Given the description of an element on the screen output the (x, y) to click on. 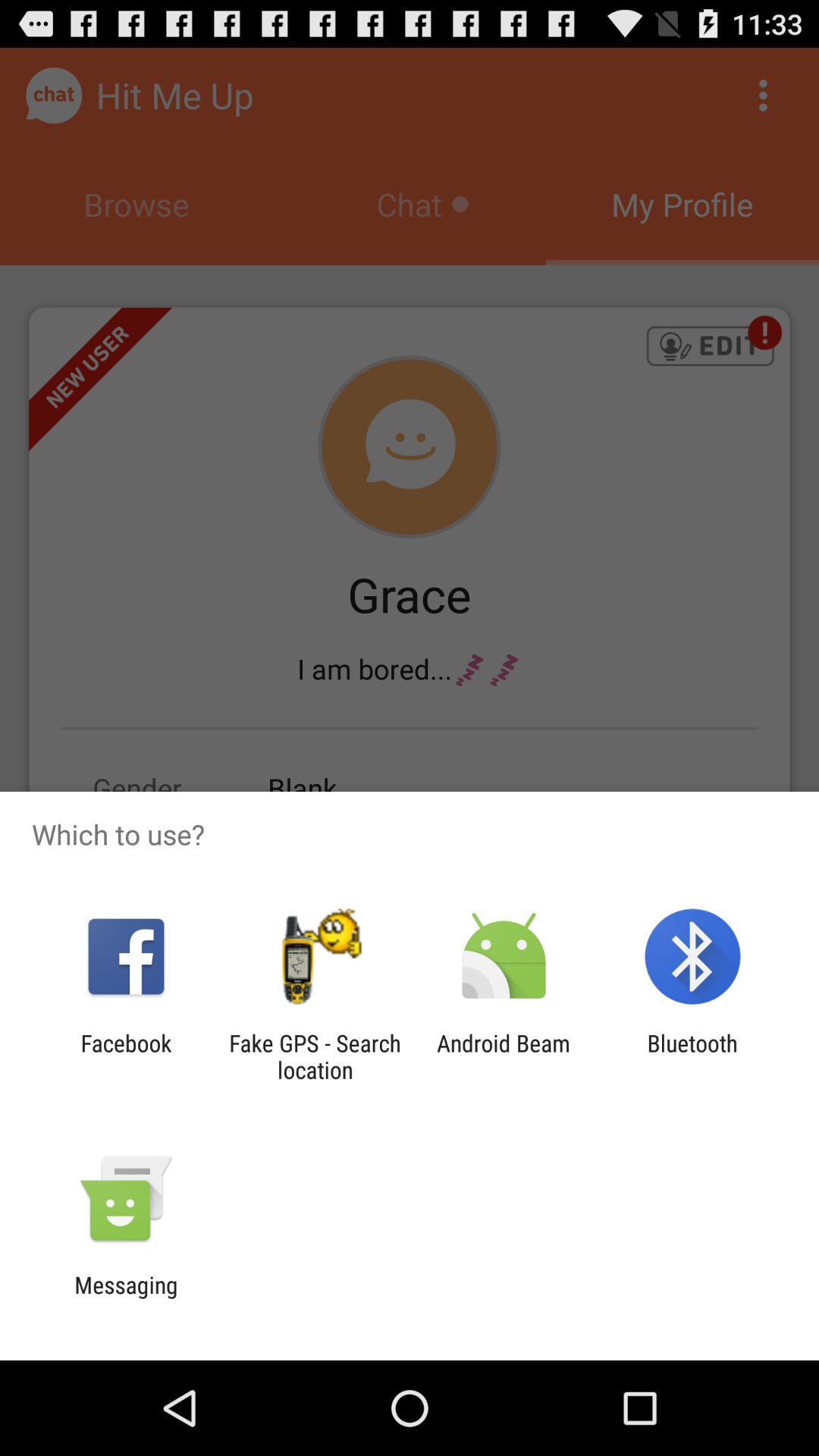
scroll until fake gps search item (314, 1056)
